Given the description of an element on the screen output the (x, y) to click on. 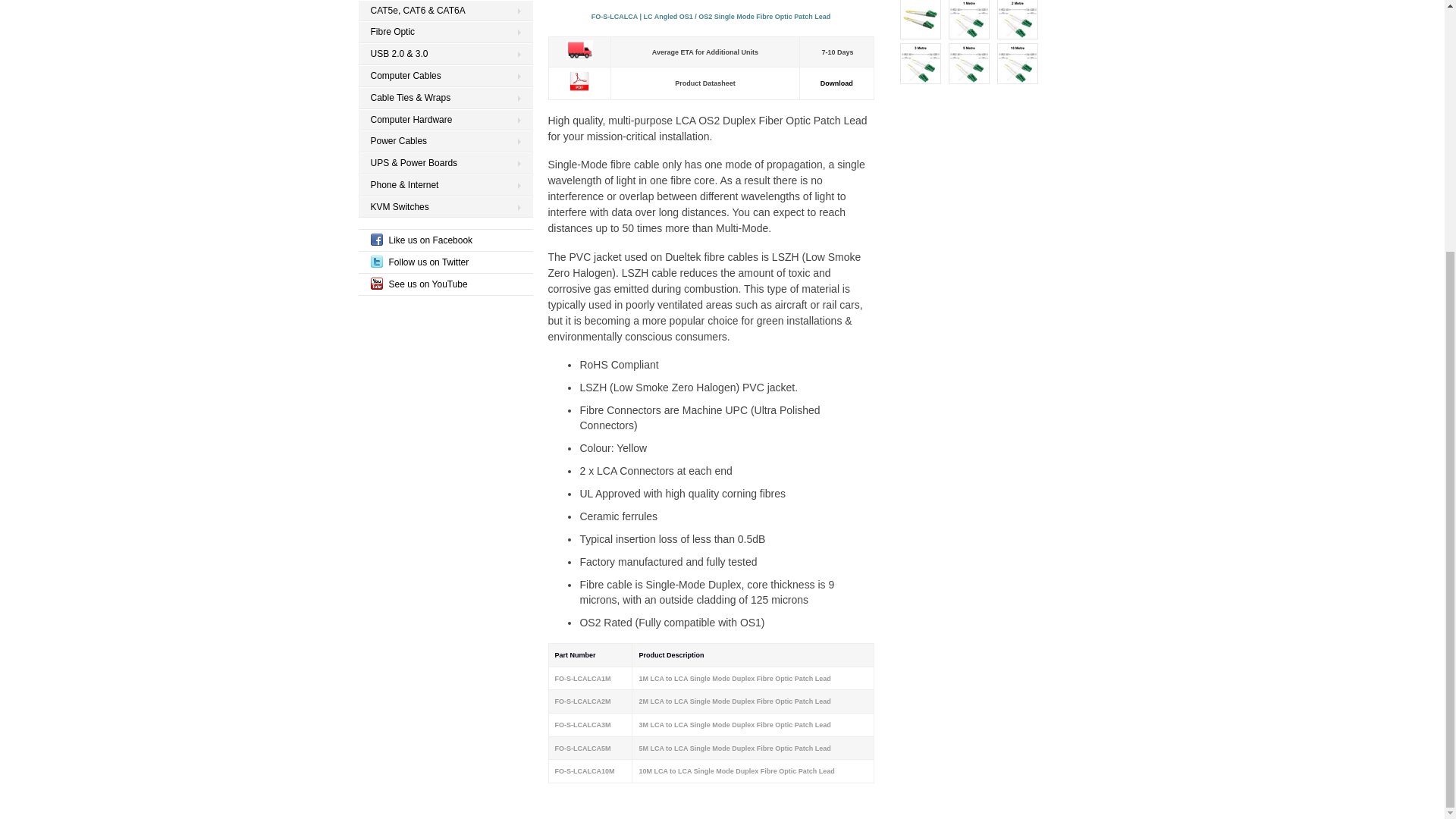
Fibre Optic (445, 32)
Power Cables (445, 141)
Computer Cables (445, 75)
Computer Hardware (445, 119)
Download (837, 82)
Computer Hardware (445, 119)
Power Cables (445, 141)
Computer Cables (445, 75)
Fibre Optic (445, 32)
